Given the description of an element on the screen output the (x, y) to click on. 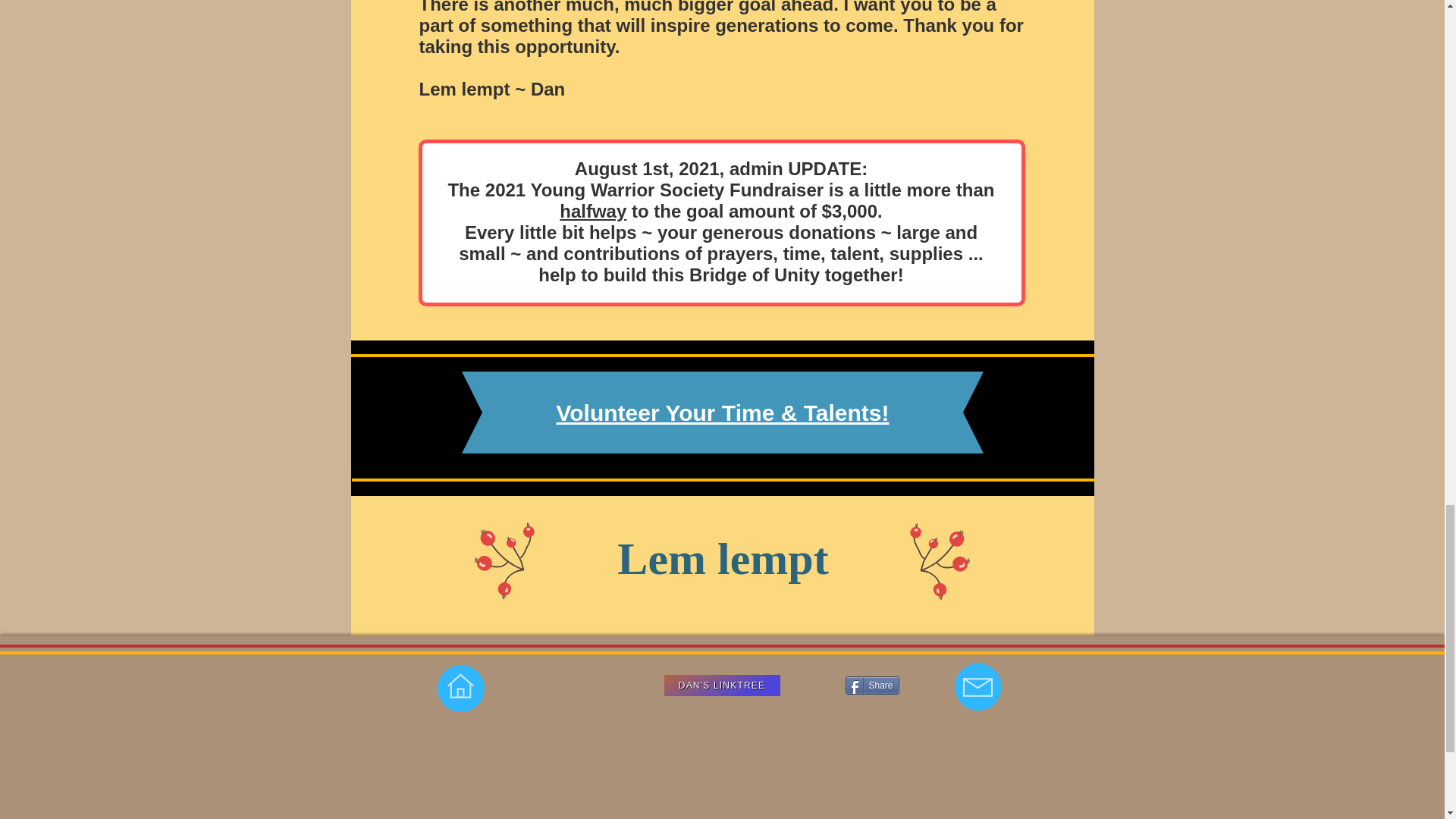
Share (871, 685)
DAN'S LINKTREE (721, 685)
Share (871, 685)
